Given the description of an element on the screen output the (x, y) to click on. 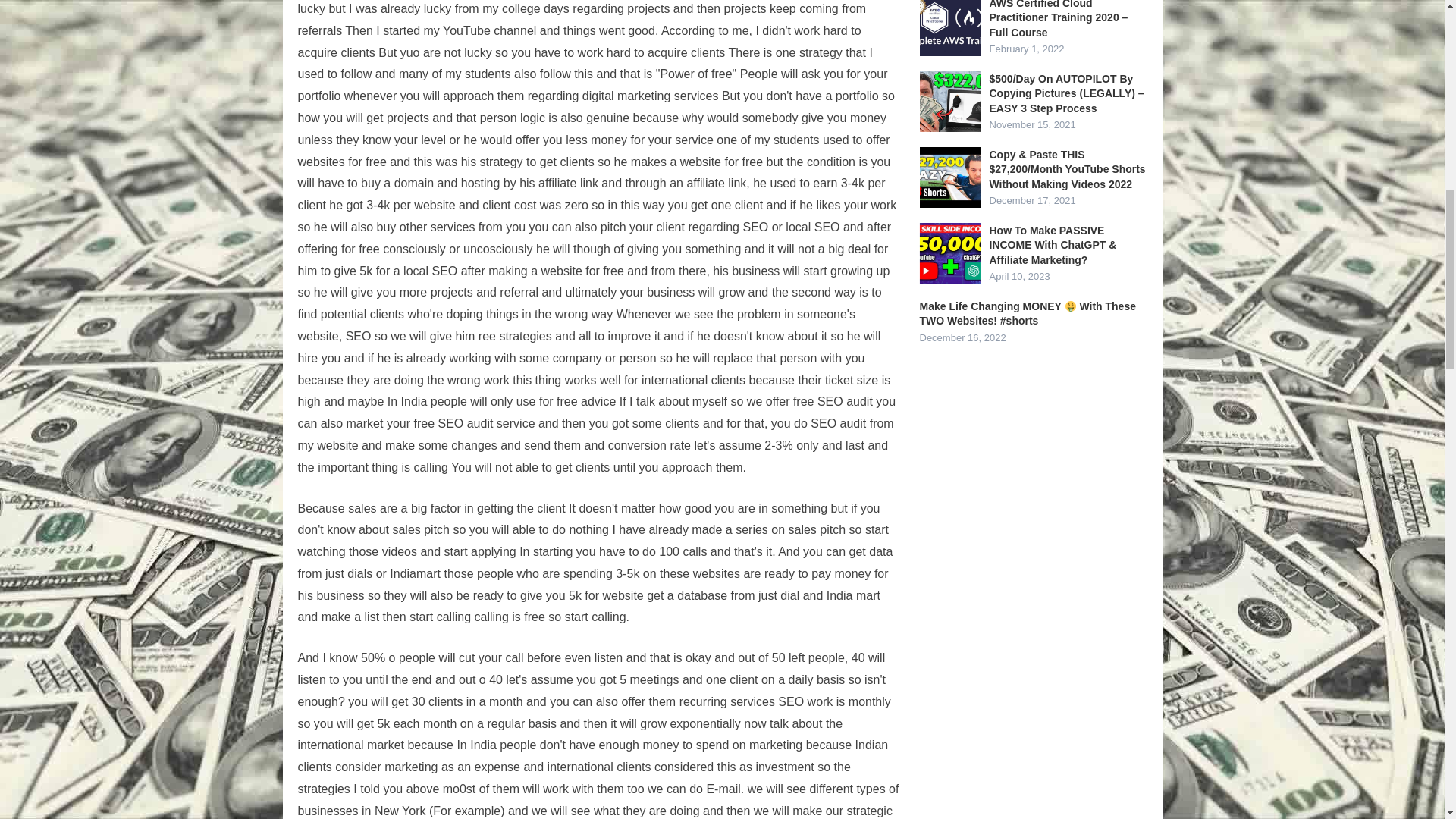
made (706, 529)
made (706, 529)
make (399, 445)
make (399, 445)
